Given the description of an element on the screen output the (x, y) to click on. 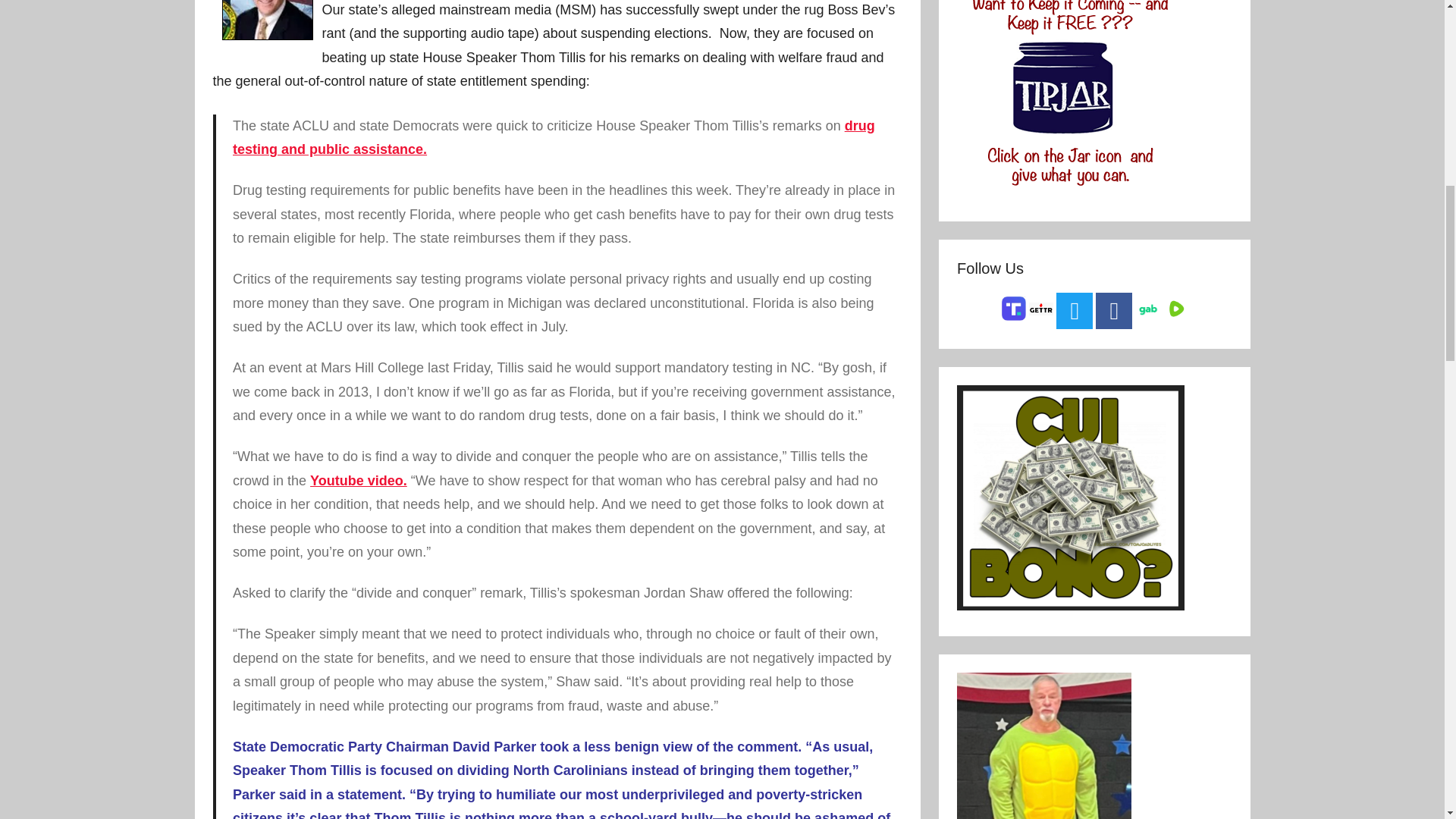
gab (1147, 313)
Youtube video. (358, 480)
tillis (267, 20)
twitter (1075, 310)
fb (1114, 310)
gettr (1040, 312)
drug testing and public assistance. (553, 137)
truthsocial (1013, 318)
gettr (1040, 308)
gab (1146, 309)
